Given the description of an element on the screen output the (x, y) to click on. 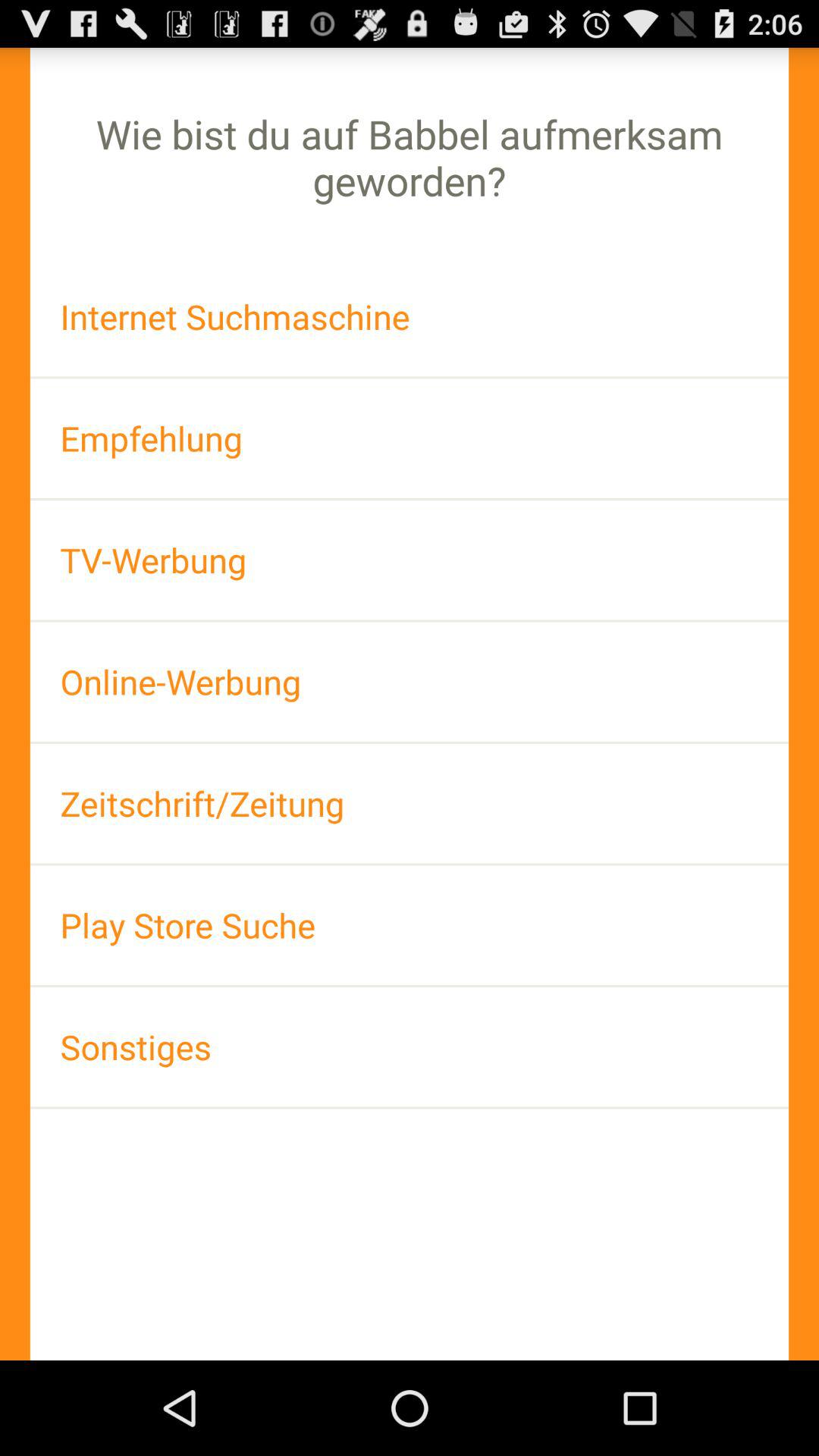
turn on icon below the online-werbung (409, 803)
